Given the description of an element on the screen output the (x, y) to click on. 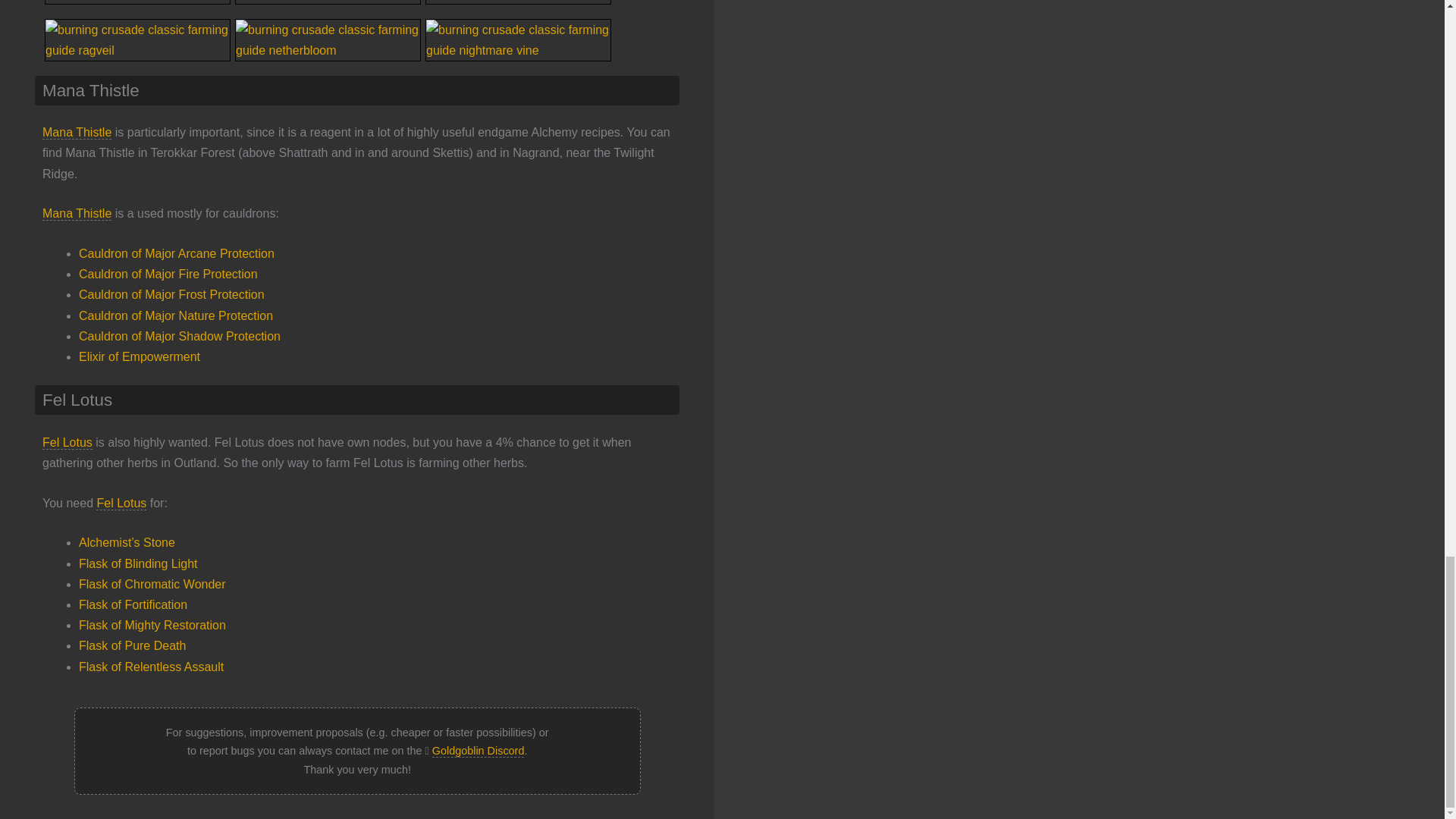
Herbalism - Burning Crusade Classic 4 (327, 2)
Guide for Farming Dreaming Glory (327, 7)
Guide for Farming Terocone (517, 7)
Herbalism - Burning Crusade Classic 3 (137, 2)
